Given the description of an element on the screen output the (x, y) to click on. 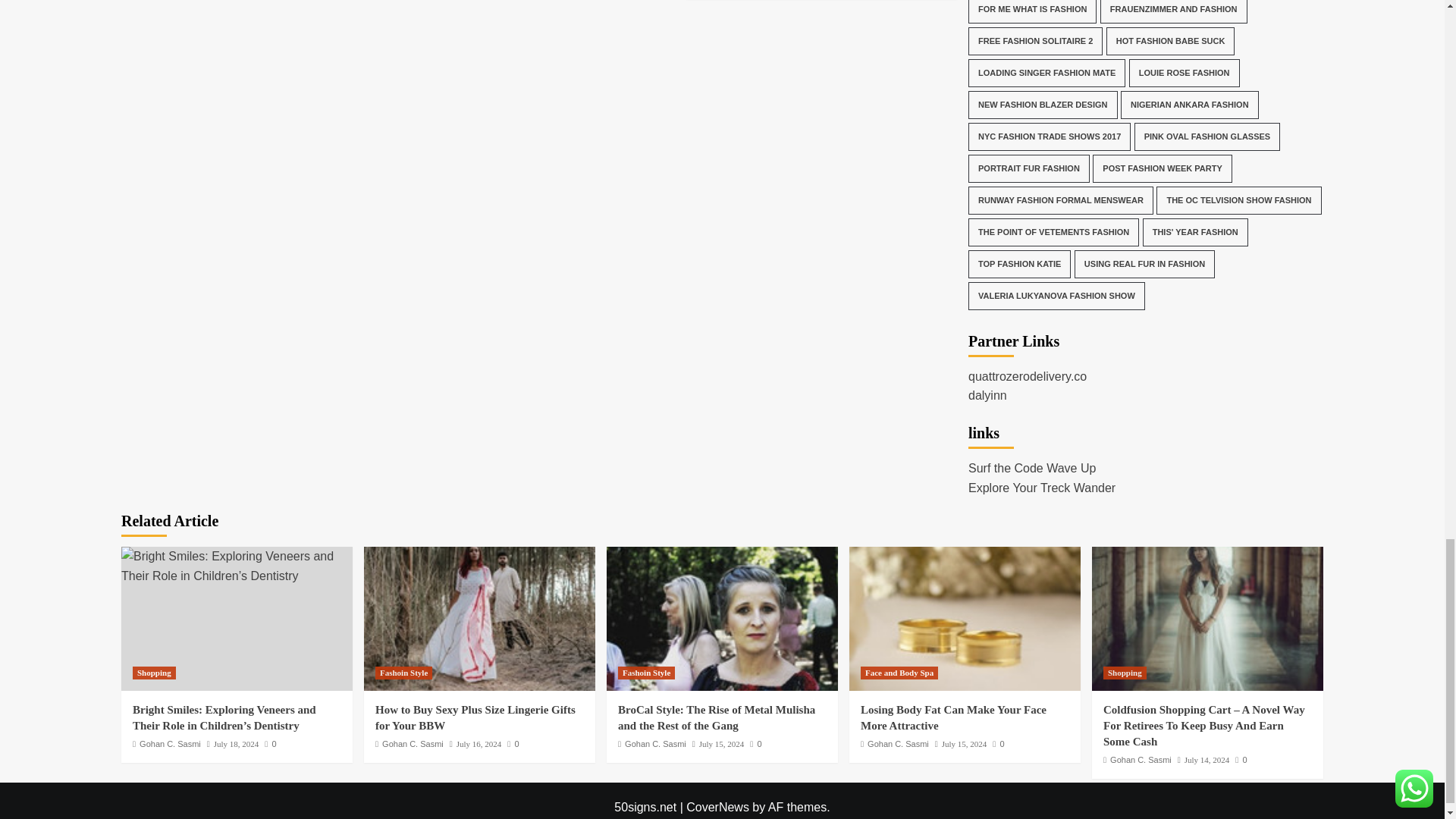
Losing Body Fat Can Make Your Face More Attractive (964, 619)
How to Buy Sexy Plus Size Lingerie Gifts for Your BBW (479, 619)
